Given the description of an element on the screen output the (x, y) to click on. 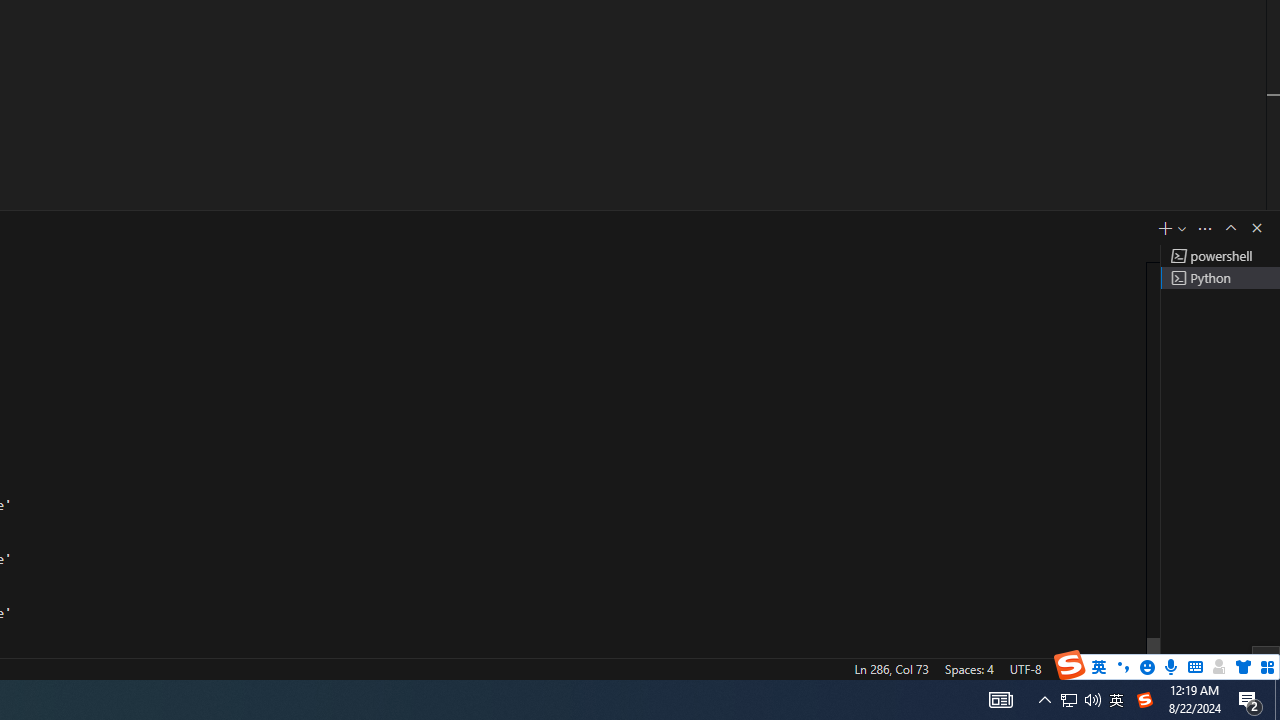
Python (1135, 668)
UTF-8 (1025, 668)
Hide Panel (1256, 227)
Spaces: 4 (968, 668)
Terminal 5 Python (1220, 277)
Terminal 1 powershell (1220, 255)
Views and More Actions... (1205, 227)
CRLF (1070, 668)
Maximize Panel Size (1230, 227)
Ln 286, Col 73 (891, 668)
